Given the description of an element on the screen output the (x, y) to click on. 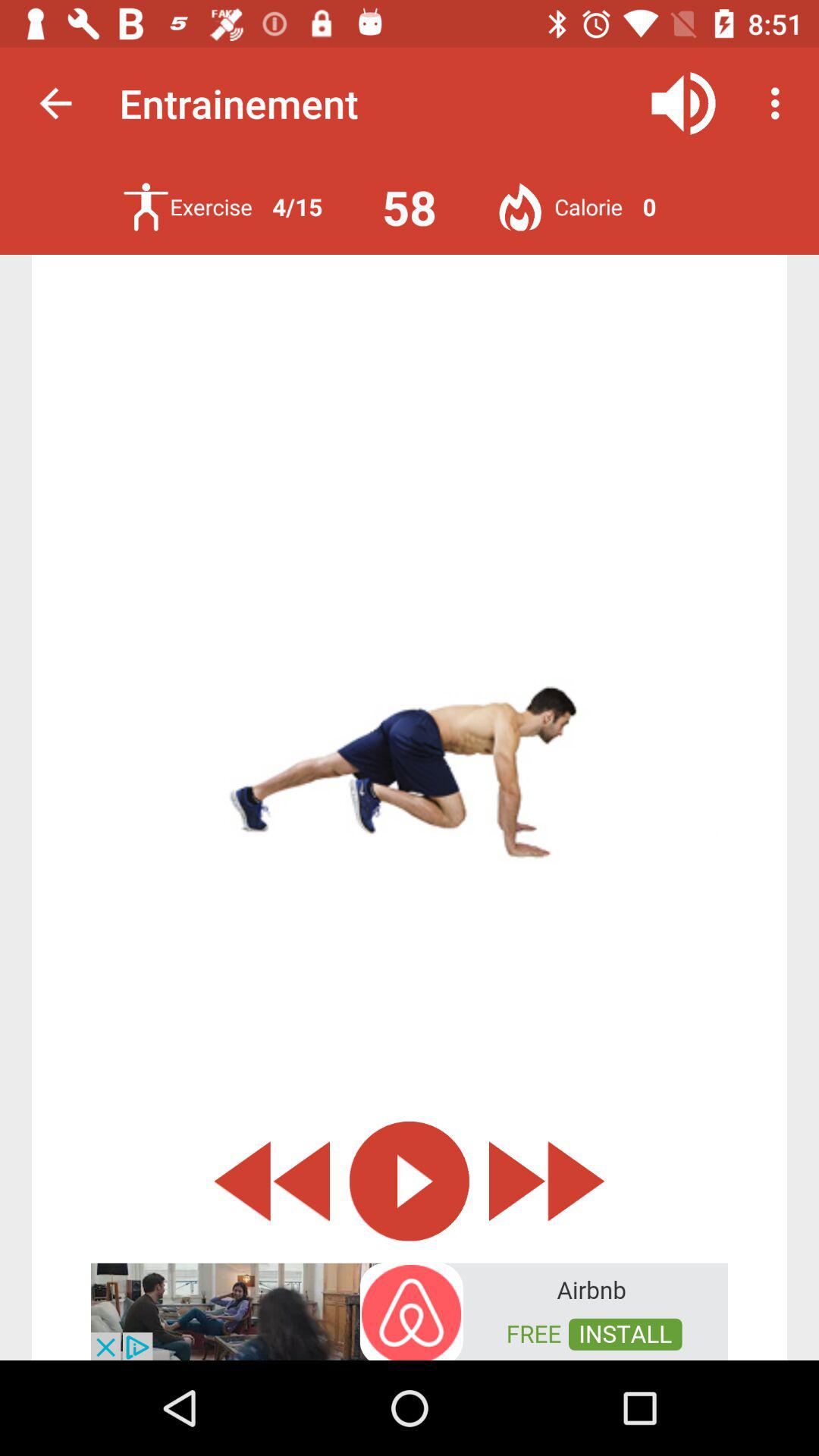
play (409, 1181)
